Given the description of an element on the screen output the (x, y) to click on. 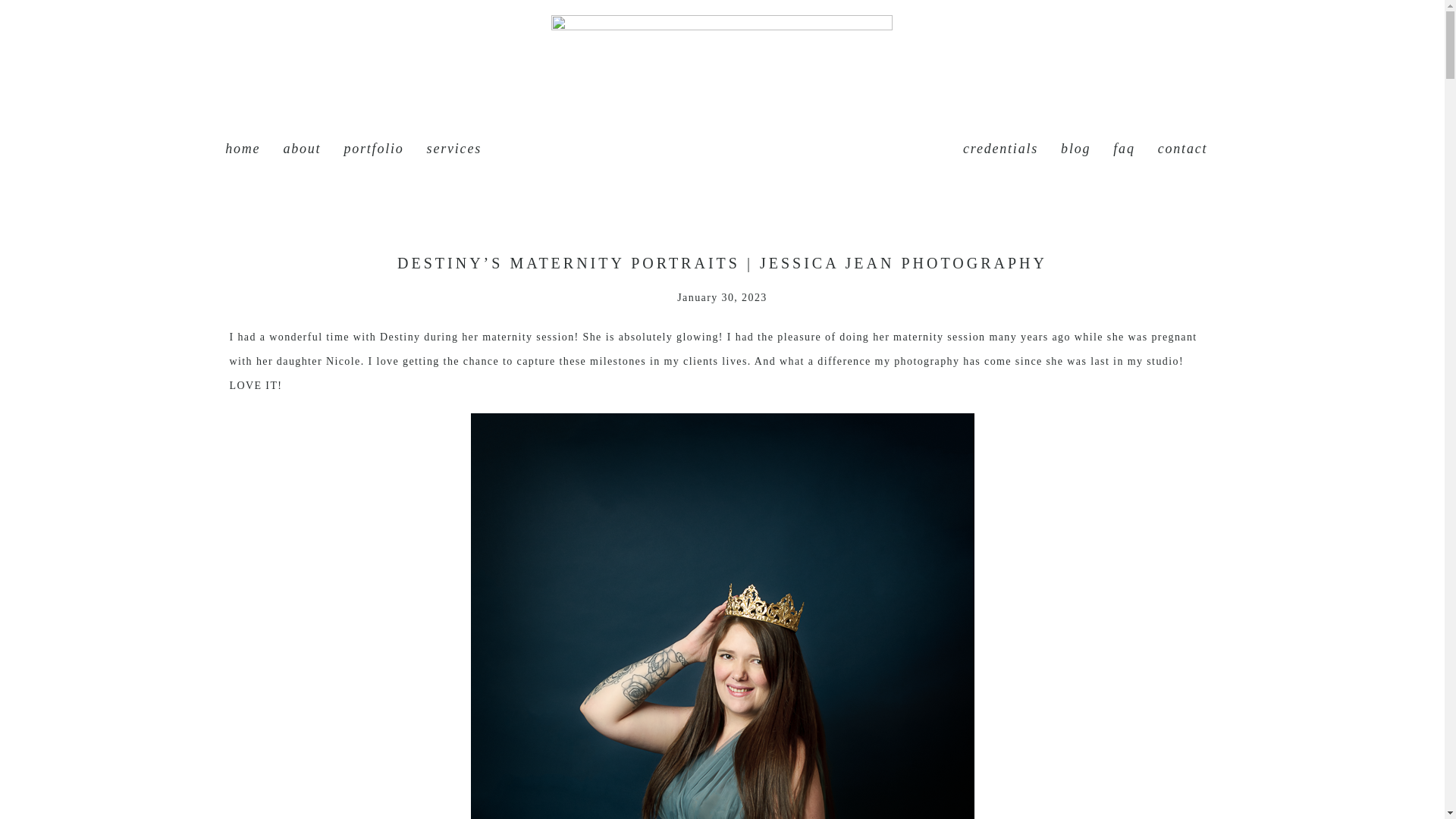
portfolio (373, 148)
home (242, 148)
services (453, 148)
blog (1075, 148)
credentials (1000, 148)
contact (1182, 148)
faq (1123, 148)
about (301, 148)
